Given the description of an element on the screen output the (x, y) to click on. 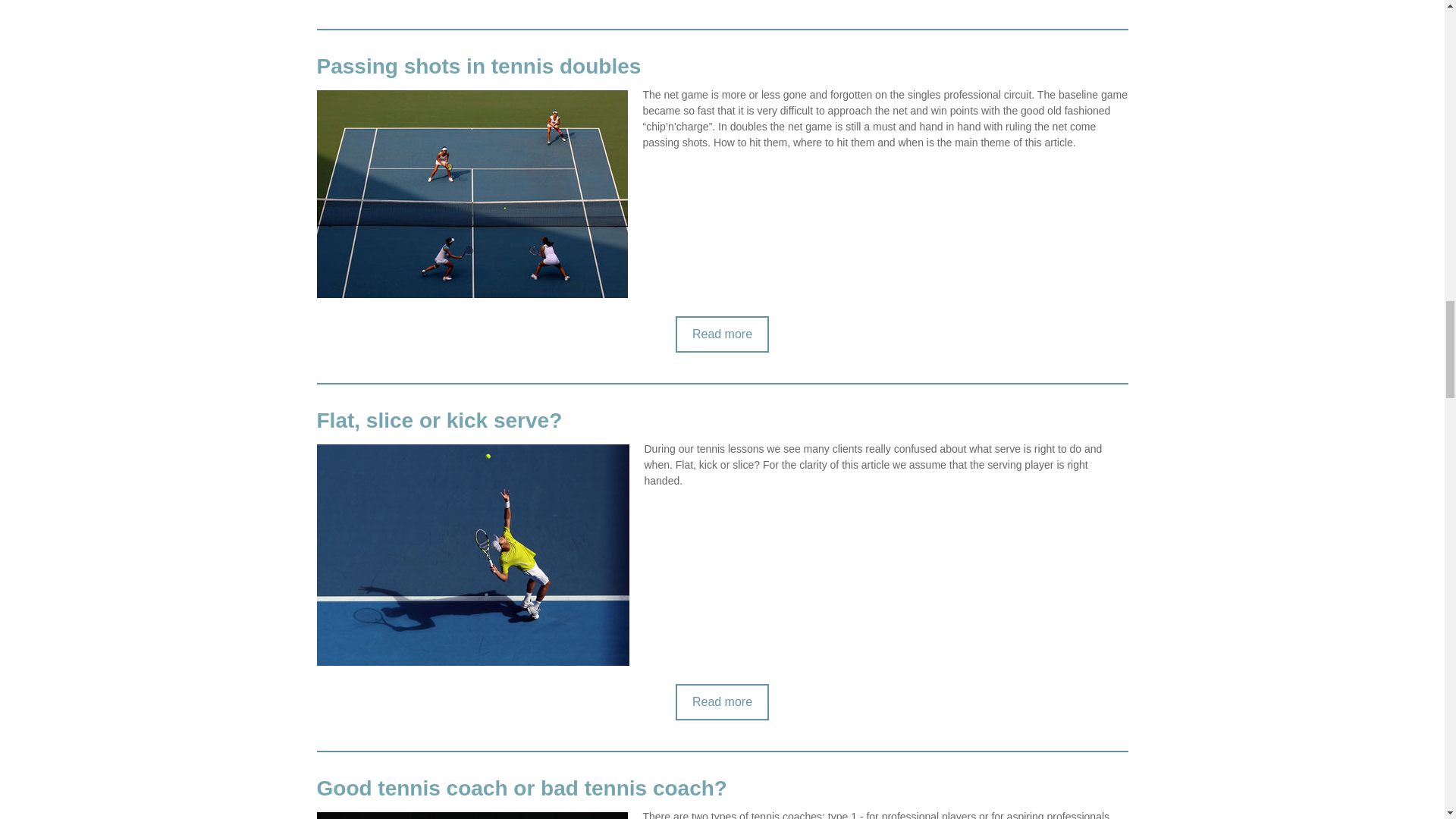
Read more (721, 701)
Read more (721, 334)
